Given the description of an element on the screen output the (x, y) to click on. 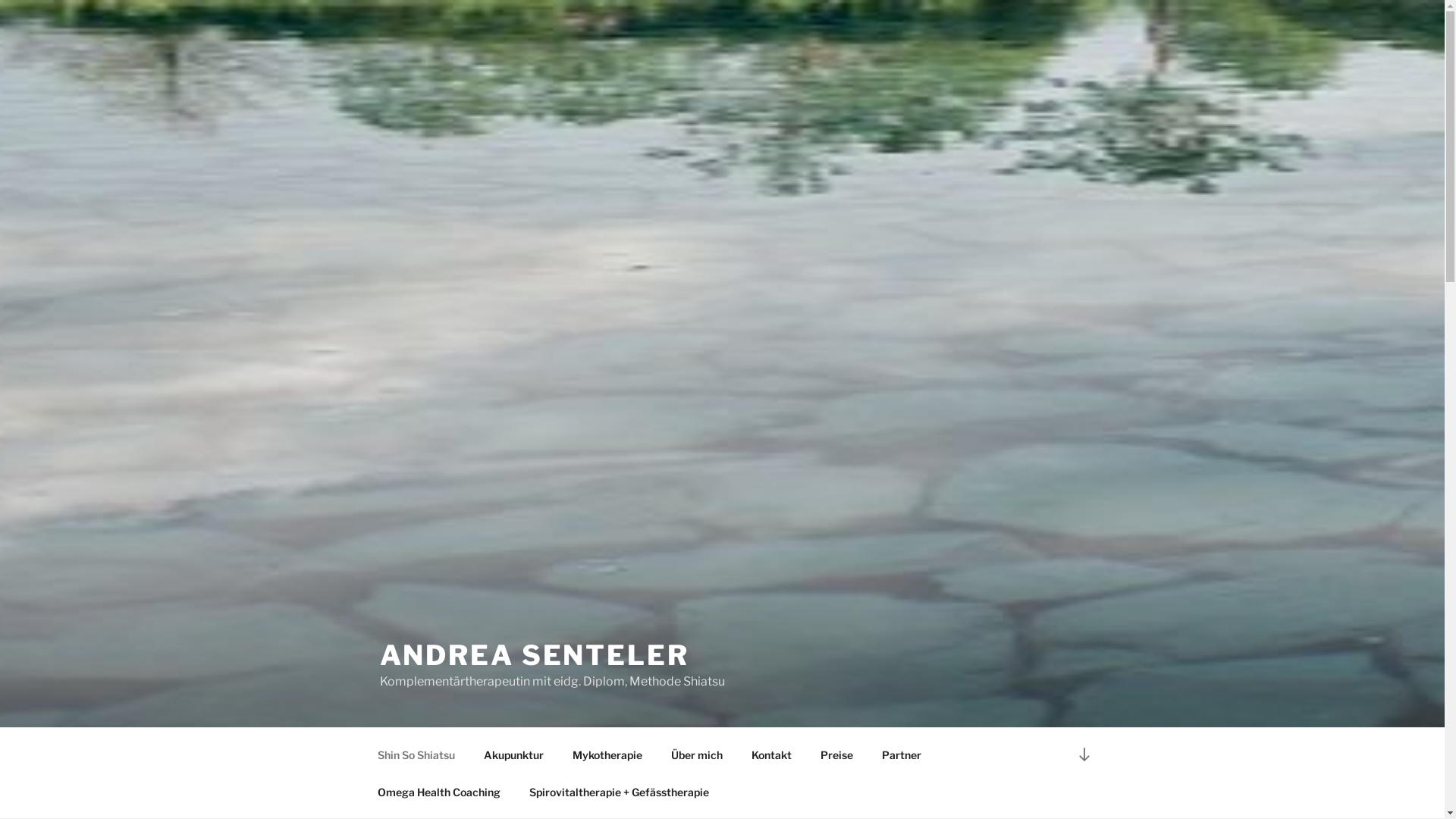
Kontakt Element type: text (771, 753)
Shin So Shiatsu Element type: text (415, 753)
Omega Health Coaching Element type: text (438, 791)
Mykotherapie Element type: text (607, 753)
Zum Inhalt nach unten scrollen Element type: text (1083, 753)
Akupunktur Element type: text (513, 753)
Preise Element type: text (836, 753)
Partner Element type: text (902, 753)
ANDREA SENTELER Element type: text (533, 654)
Zum Inhalt springen Element type: text (0, 0)
